Given the description of an element on the screen output the (x, y) to click on. 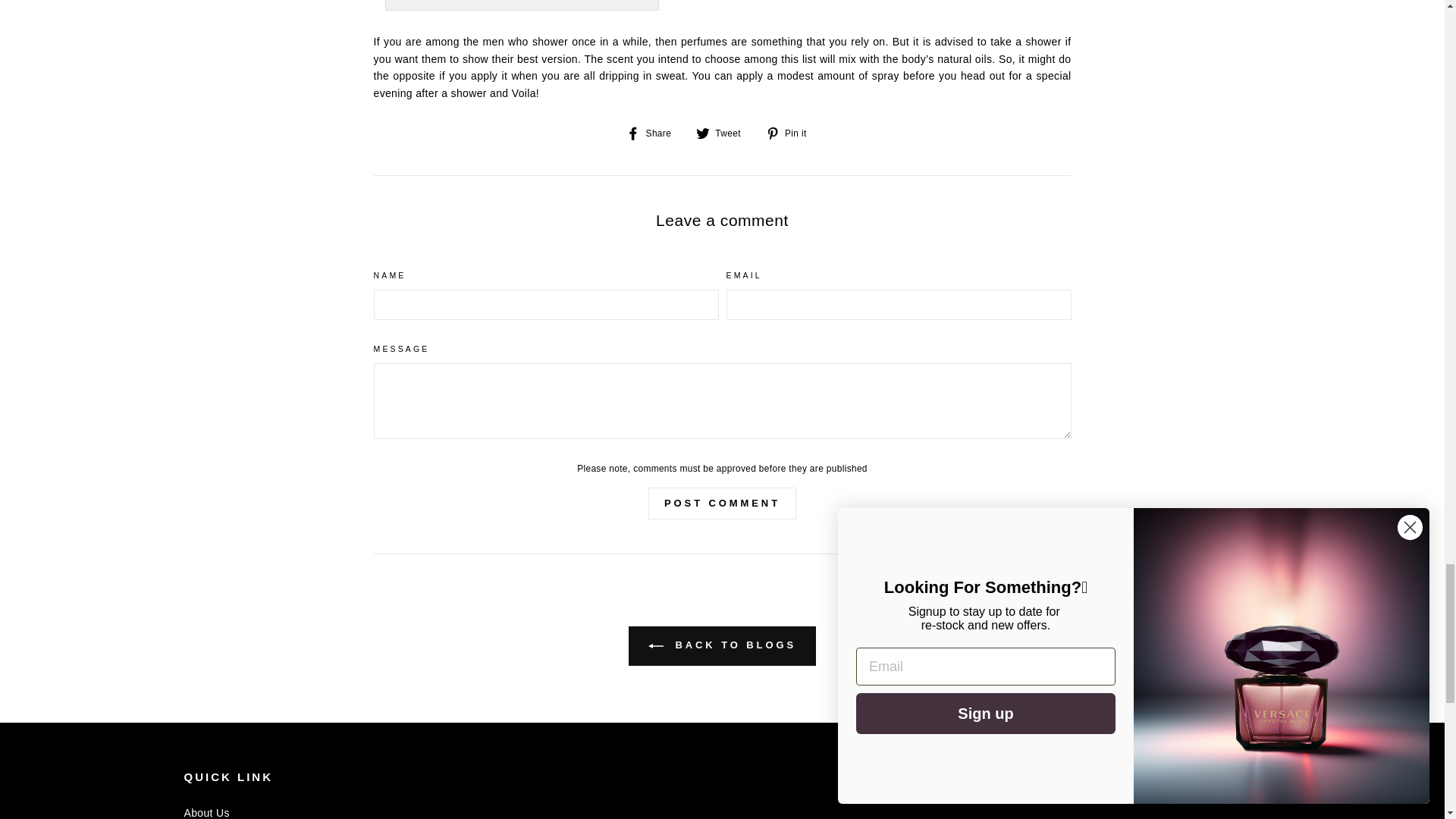
Pin on Pinterest (791, 132)
Tweet on Twitter (723, 132)
Share on Facebook (654, 132)
